Given the description of an element on the screen output the (x, y) to click on. 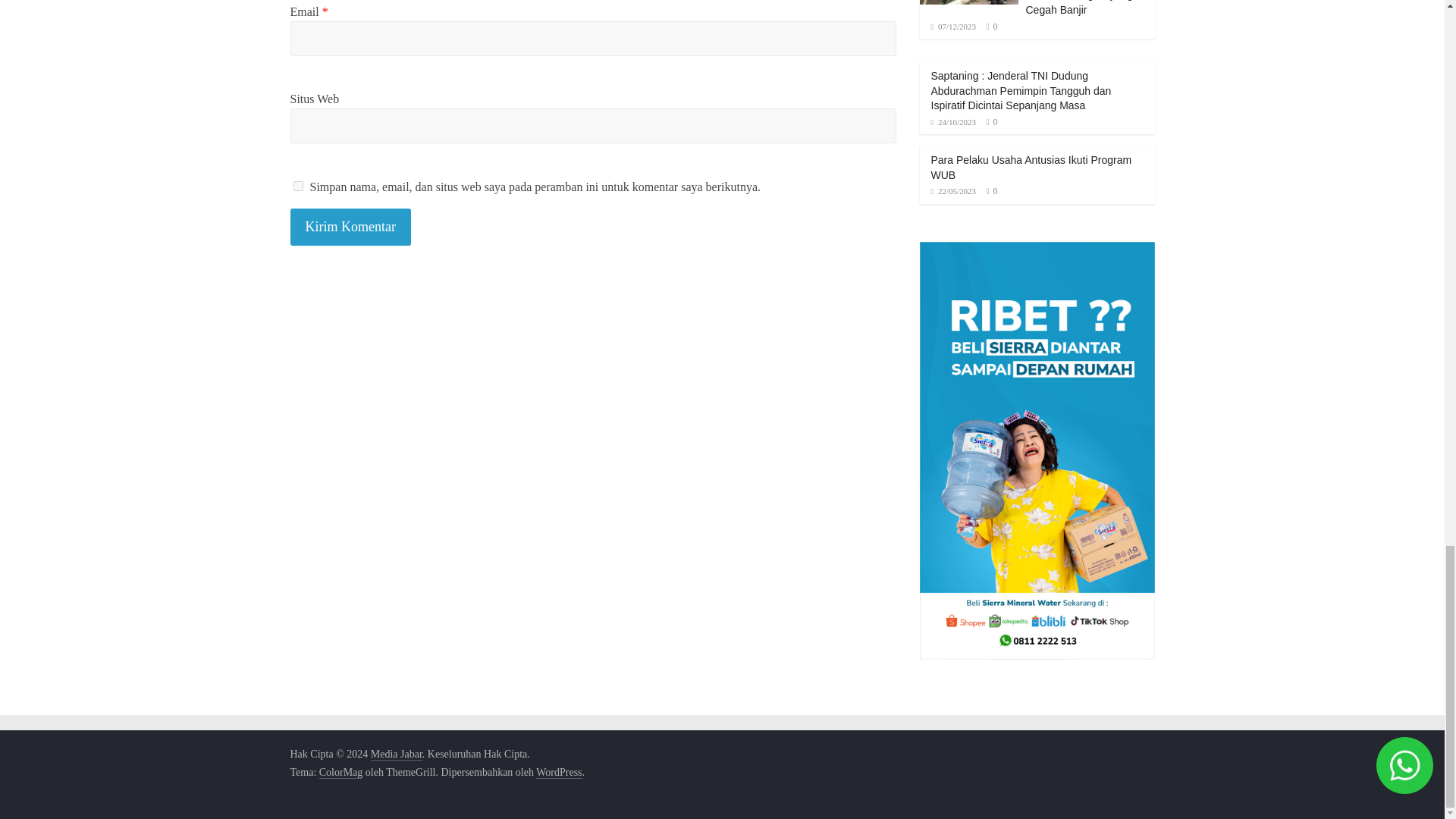
yes (297, 185)
Kirim Komentar (349, 226)
Kirim Komentar (349, 226)
